Given the description of an element on the screen output the (x, y) to click on. 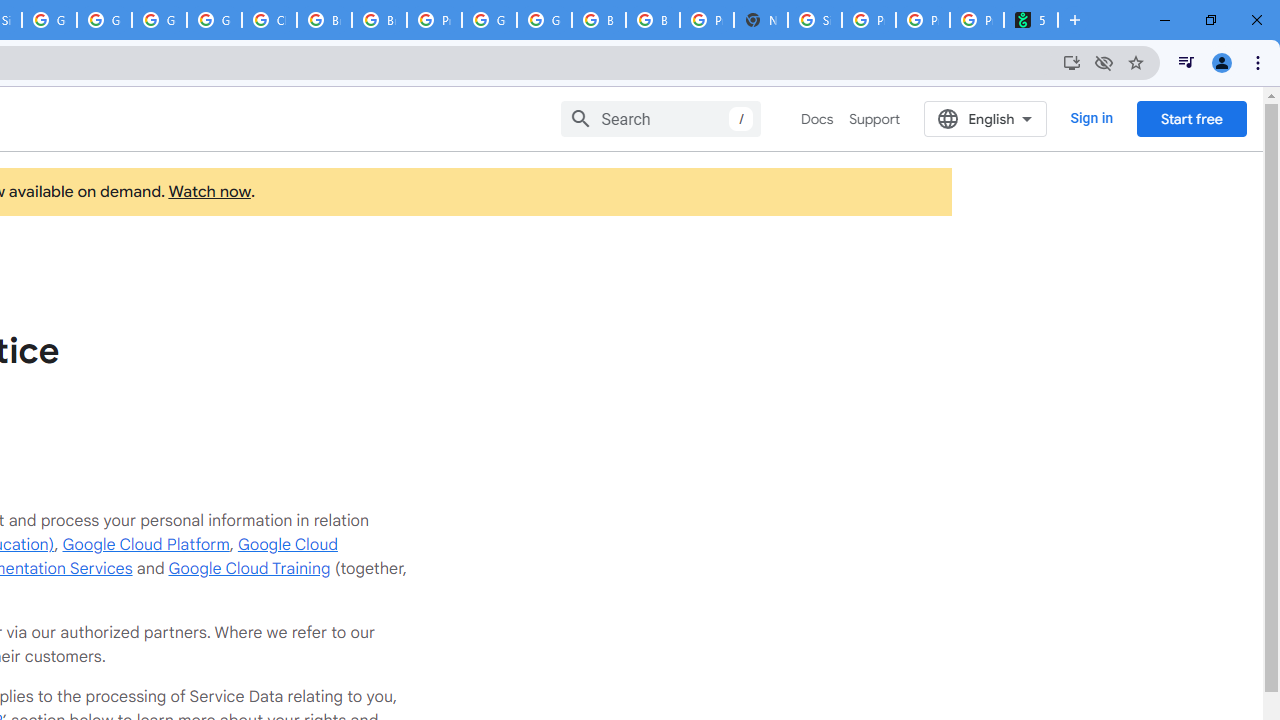
Browse Chrome as a guest - Computer - Google Chrome Help (324, 20)
Google Cloud Platform (544, 20)
